Given the description of an element on the screen output the (x, y) to click on. 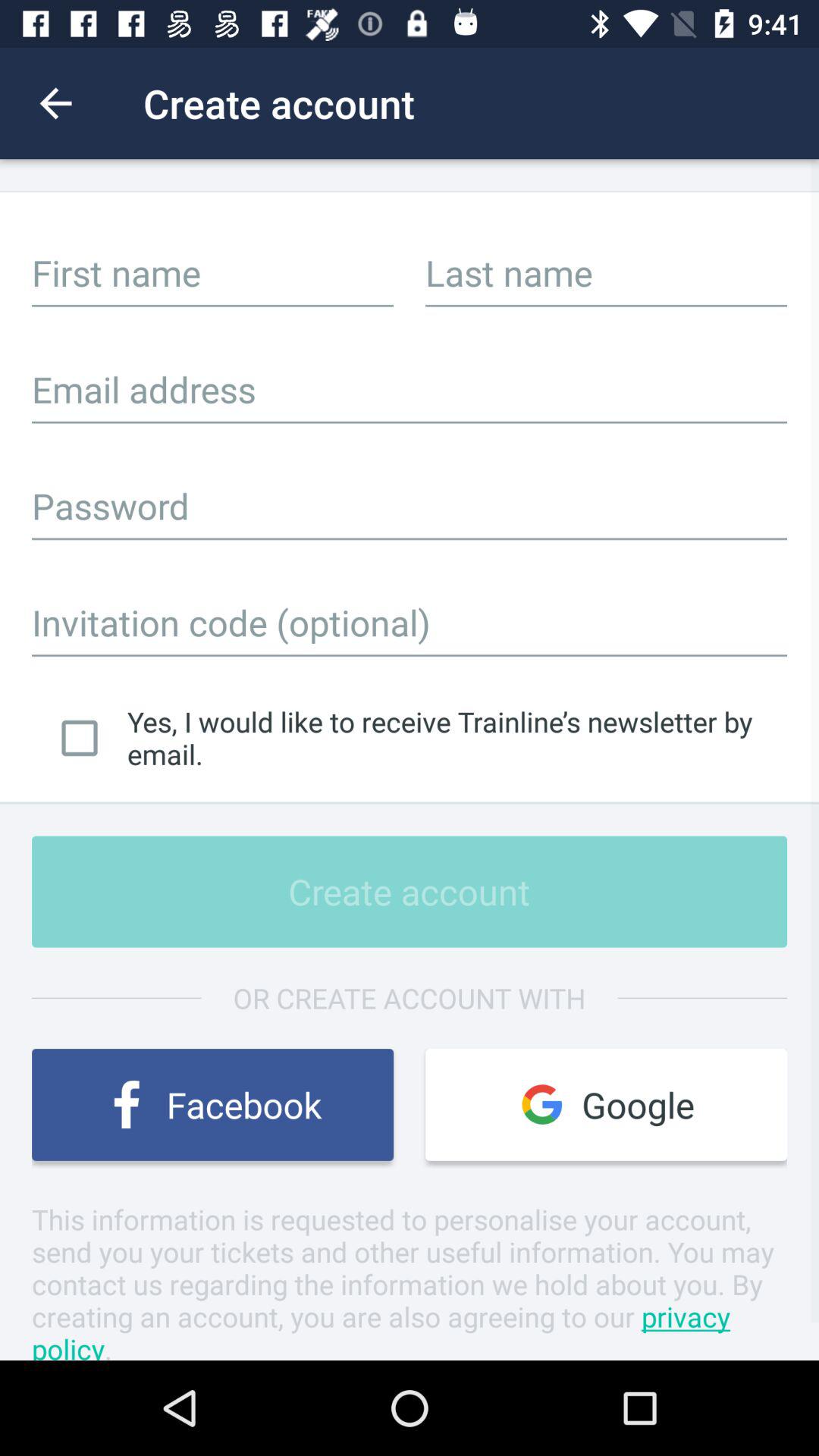
turn on icon next to create account item (55, 103)
